Given the description of an element on the screen output the (x, y) to click on. 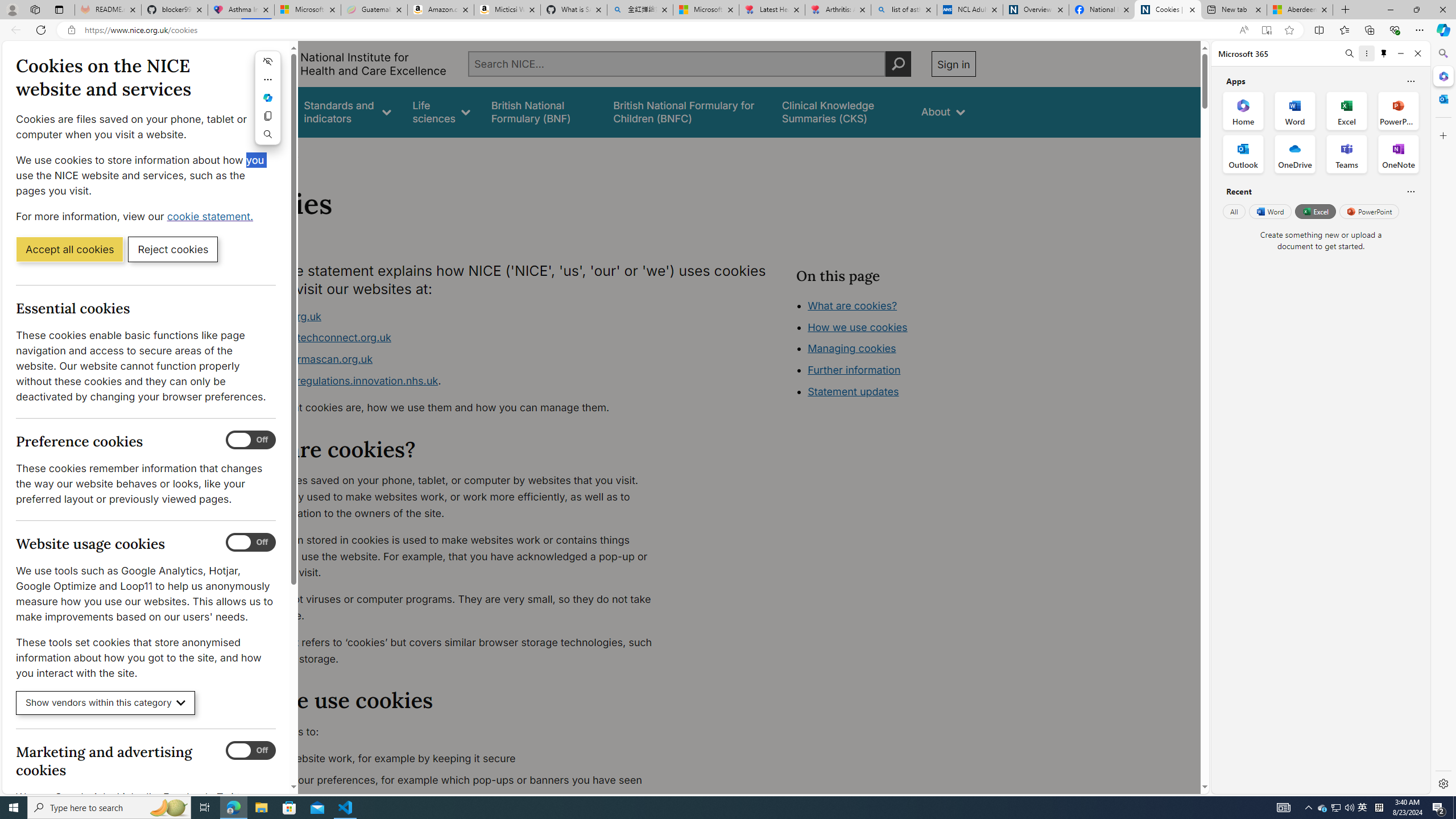
Cookies | About | NICE (1167, 9)
www.healthtechconnect.org.uk (452, 338)
How we use cookies (857, 327)
